Given the description of an element on the screen output the (x, y) to click on. 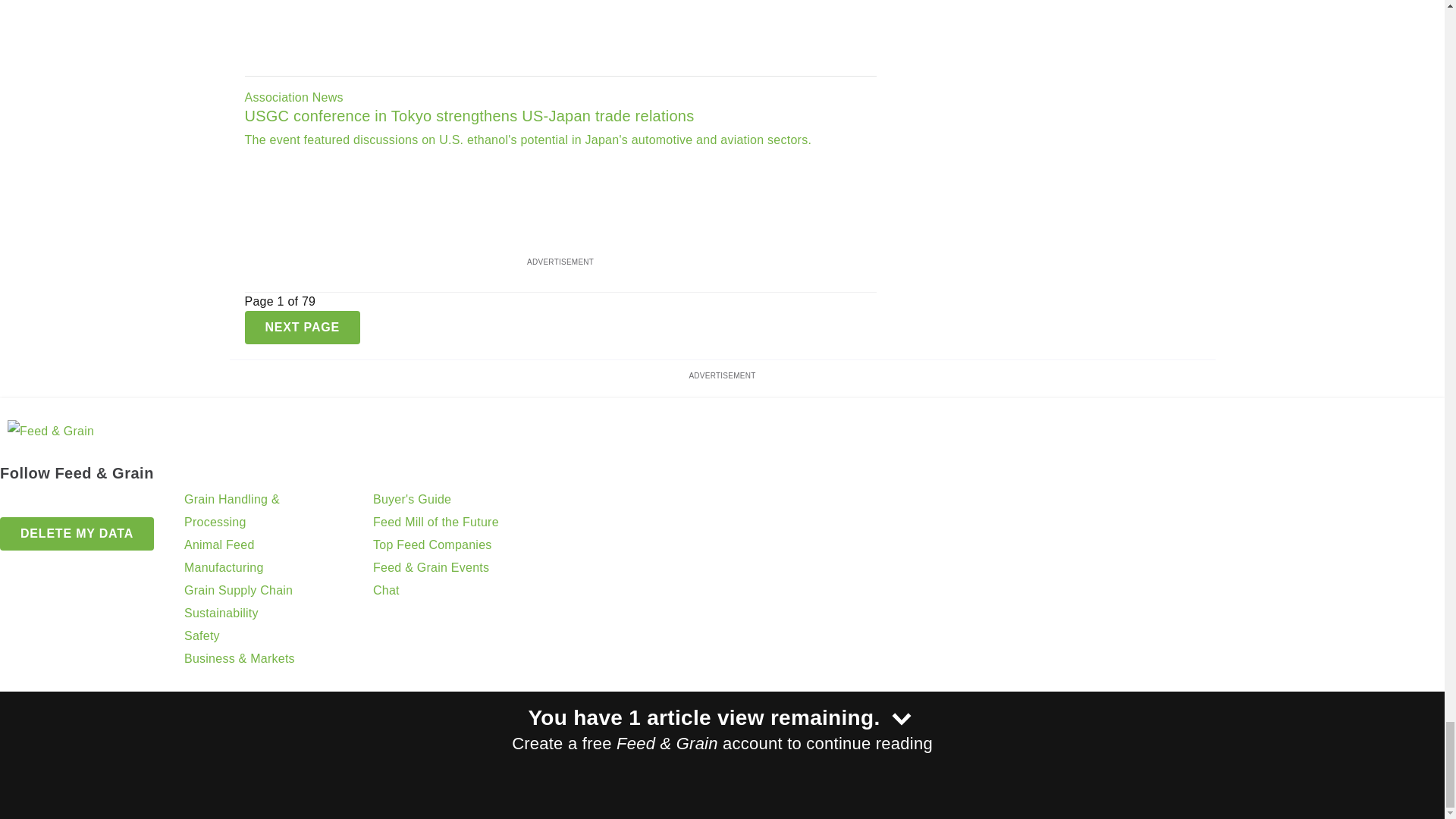
Facebook icon (13, 502)
YouTube icon (90, 502)
LinkedIn icon (52, 502)
